Given the description of an element on the screen output the (x, y) to click on. 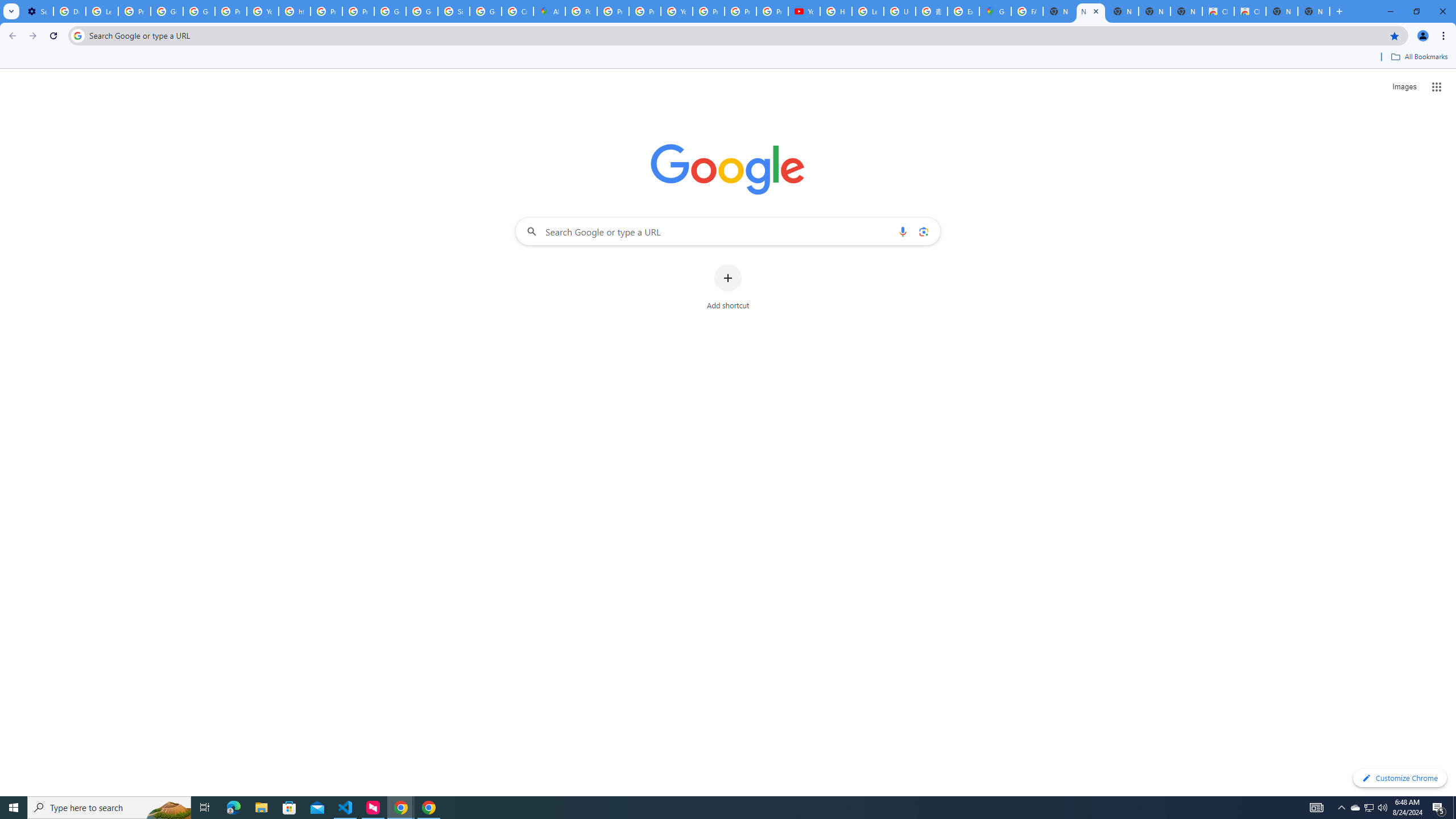
Classic Blue - Chrome Web Store (1249, 11)
Delete photos & videos - Computer - Google Photos Help (69, 11)
Classic Blue - Chrome Web Store (1217, 11)
YouTube (262, 11)
Privacy Checkup (772, 11)
New Tab (1313, 11)
